Given the description of an element on the screen output the (x, y) to click on. 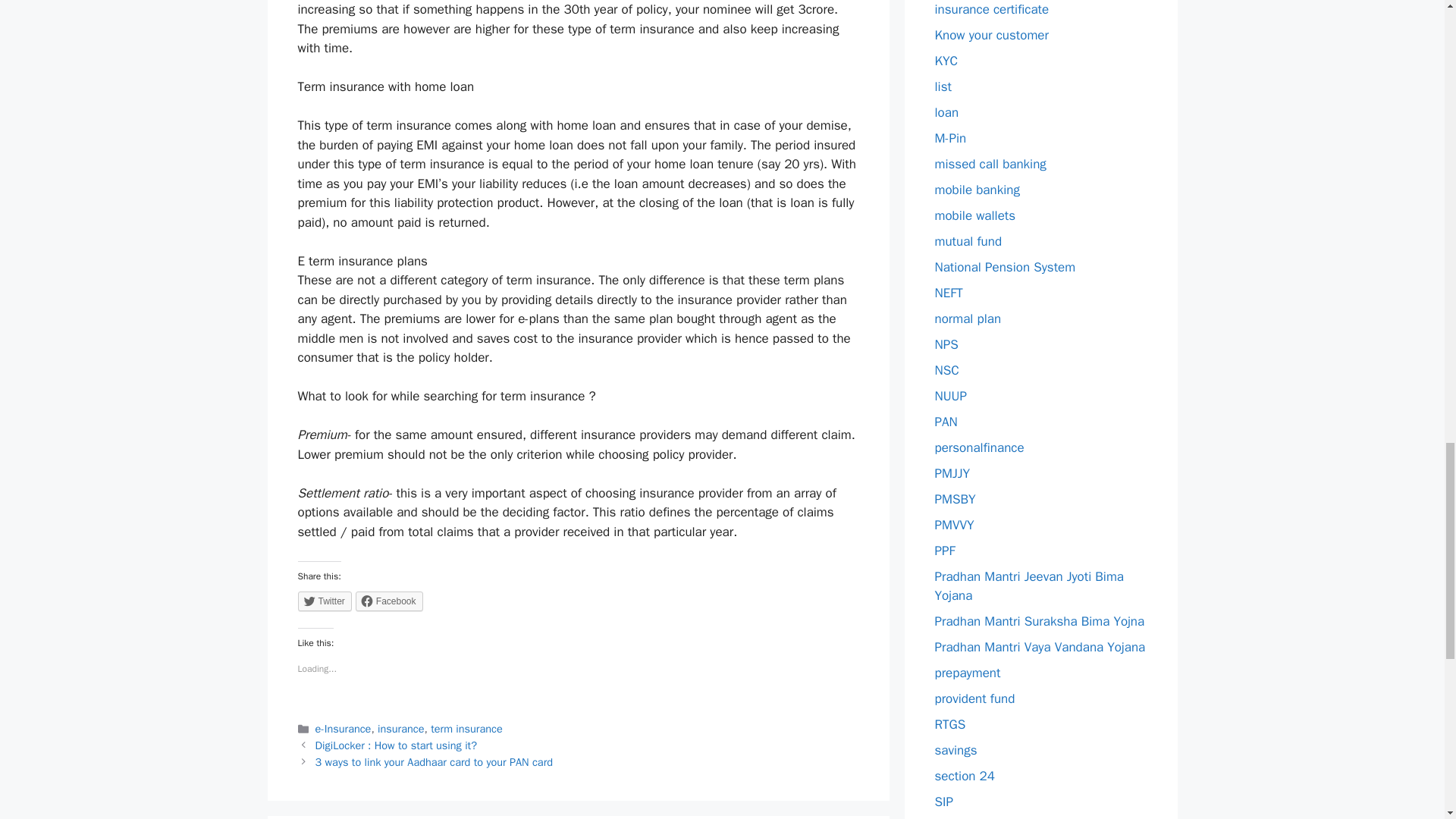
Next (434, 762)
insurance (400, 728)
Previous (396, 745)
Facebook (389, 600)
Click to share on Twitter (323, 600)
term insurance (466, 728)
Click to share on Facebook (389, 600)
e-Insurance (343, 728)
Twitter (323, 600)
3 ways to link your Aadhaar card to your PAN card (434, 762)
